Given the description of an element on the screen output the (x, y) to click on. 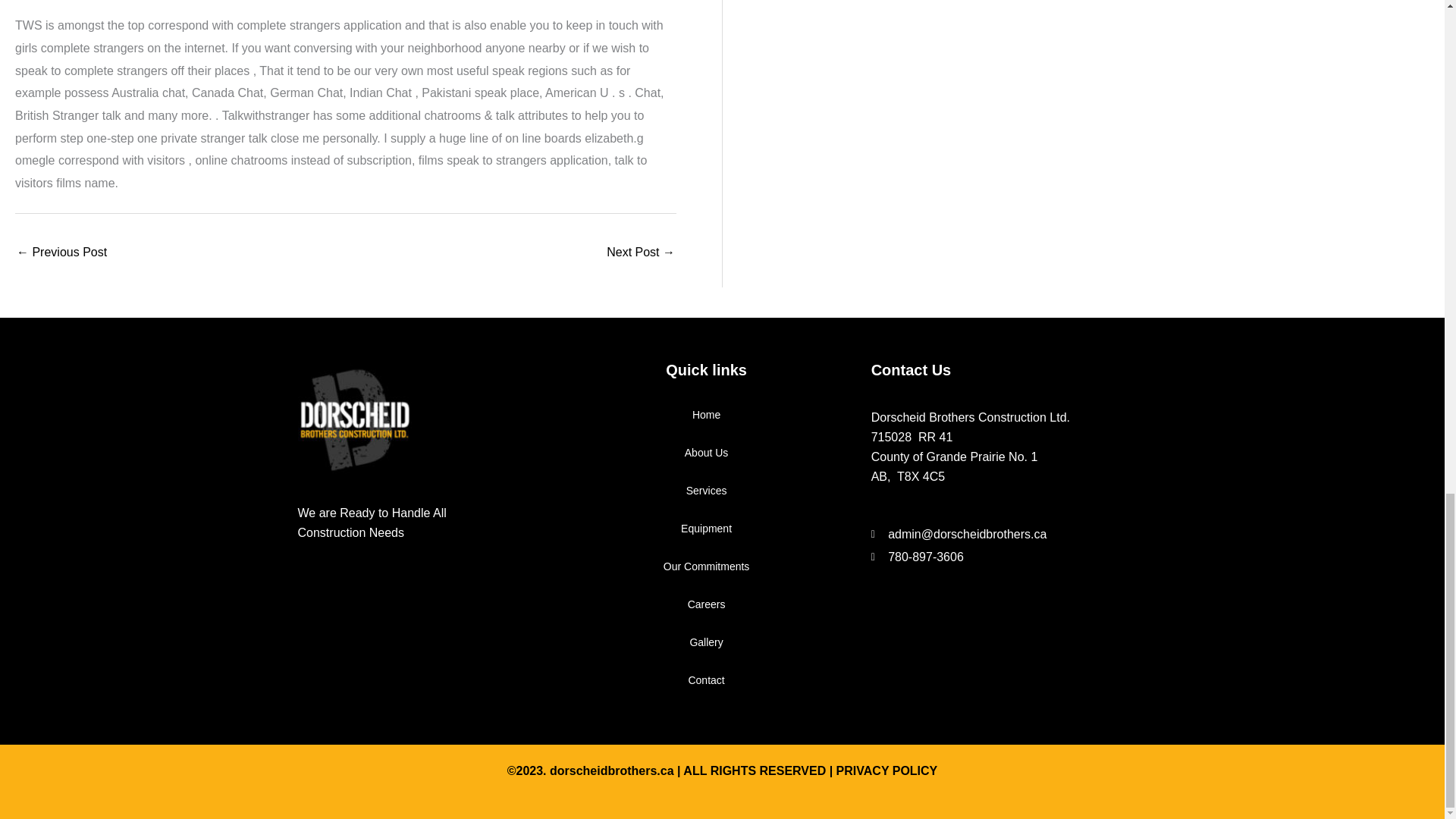
About Us (706, 452)
Parents Will be Concerned about Adolescent Access to Tinder (61, 253)
Home (706, 414)
Finest ten Top Chat Websites And Free online Boards (641, 253)
